Given the description of an element on the screen output the (x, y) to click on. 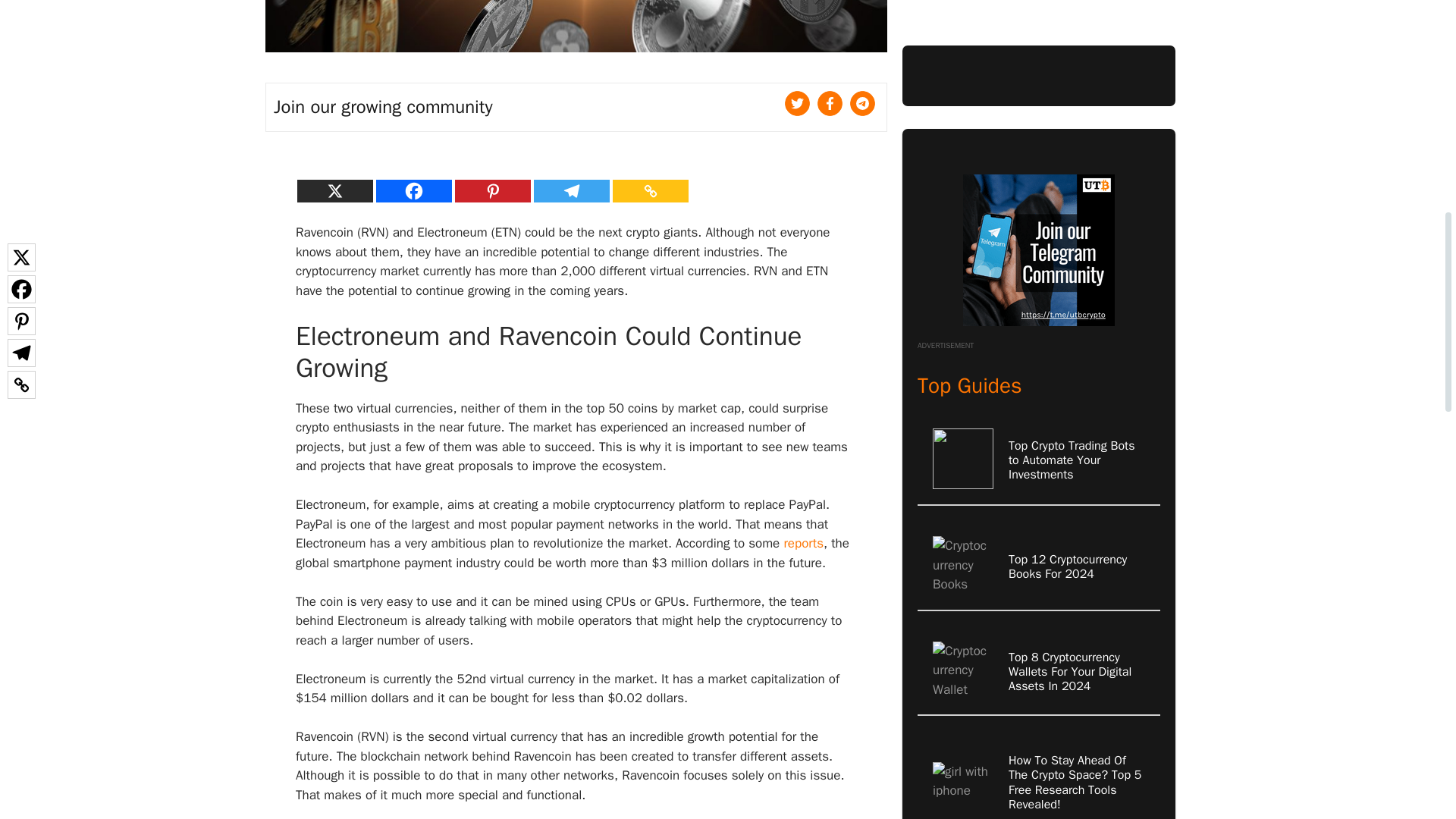
Telegram (572, 190)
X (334, 190)
Copy Link (650, 190)
Pinterest (492, 190)
Facebook (413, 190)
